Given the description of an element on the screen output the (x, y) to click on. 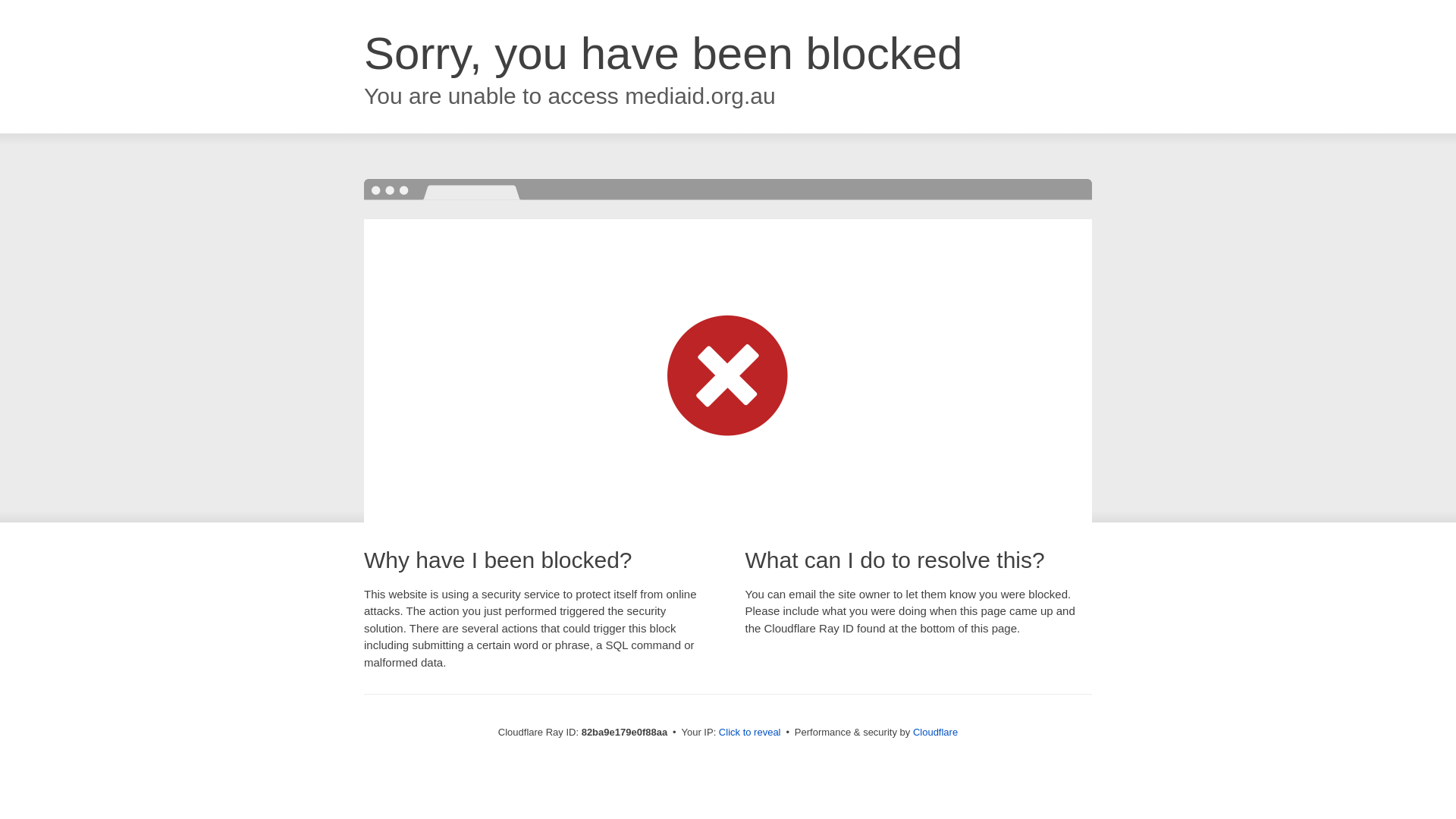
Cloudflare Element type: text (935, 731)
Click to reveal Element type: text (749, 732)
